Given the description of an element on the screen output the (x, y) to click on. 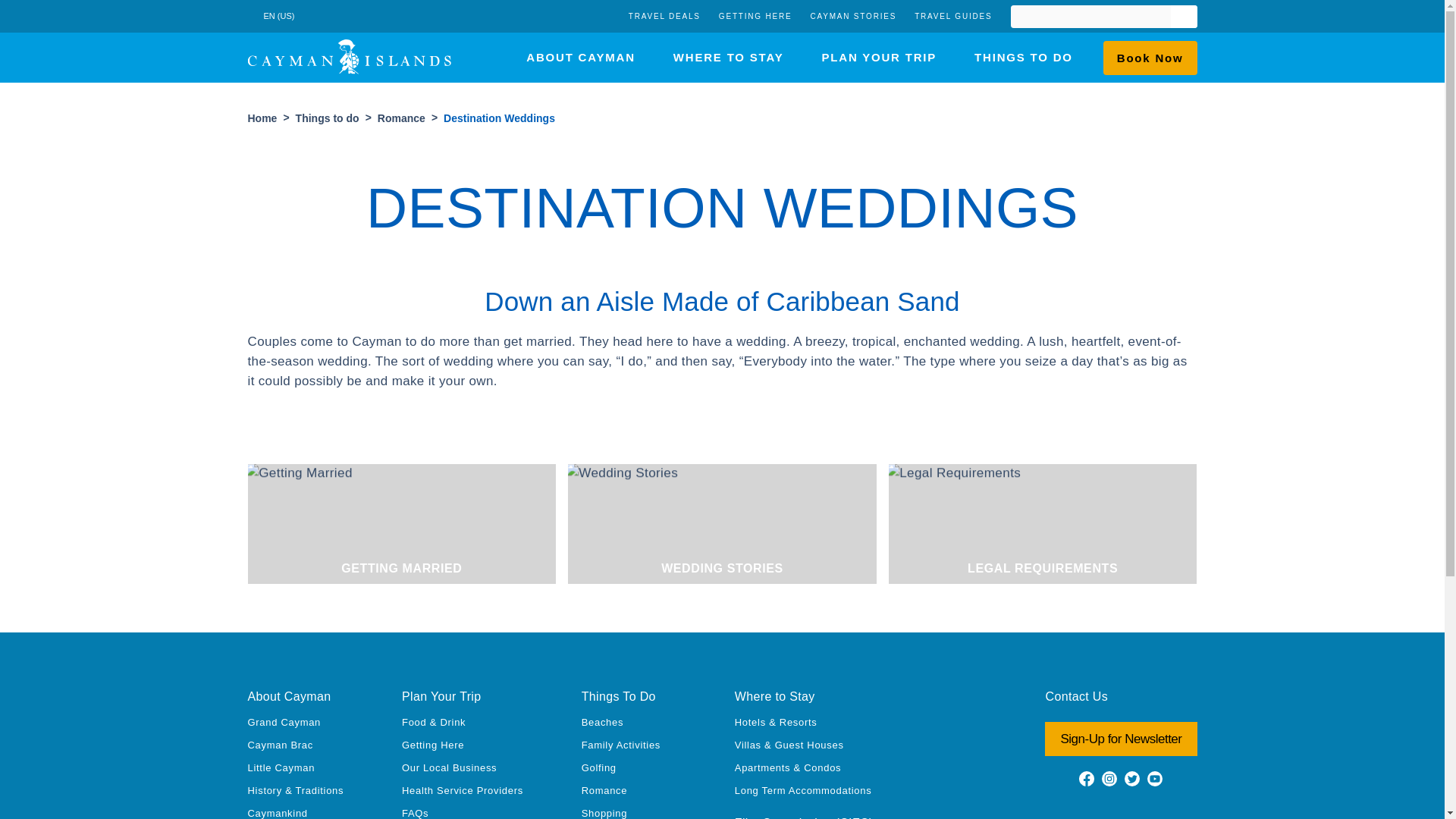
THINGS TO DO (1023, 57)
ABOUT CAYMAN (579, 57)
Home (261, 117)
Things to do (327, 117)
Book Now (1149, 57)
WHERE TO STAY (728, 57)
PLAN YOUR TRIP (878, 57)
TRAVEL DEALS (664, 16)
TRAVEL GUIDES (952, 16)
CAYMAN STORIES (852, 16)
